Given the description of an element on the screen output the (x, y) to click on. 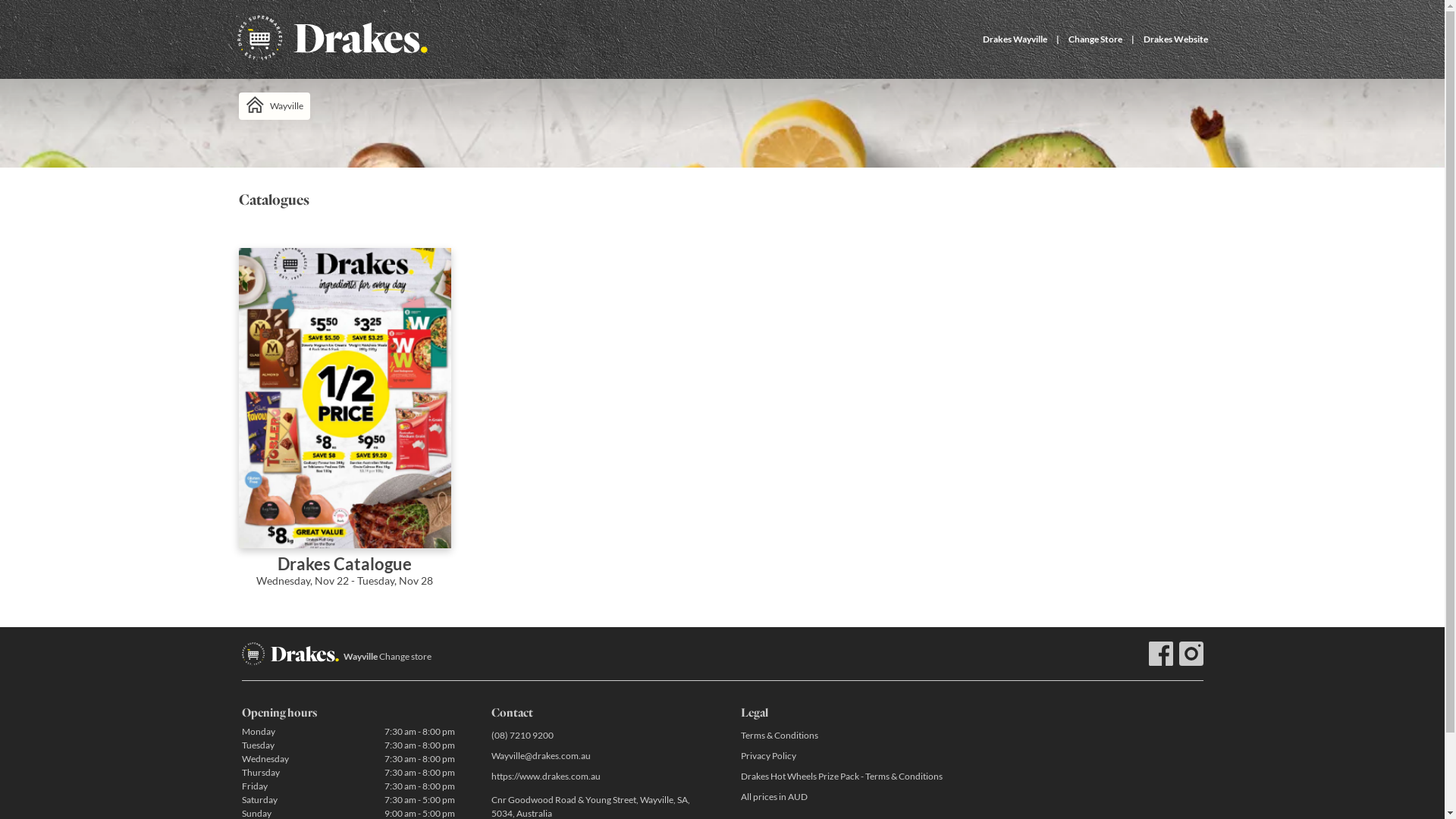
Wayville Change store Element type: text (386, 656)
Wayville Element type: text (273, 105)
Facebook Element type: hover (1160, 653)
https://www.drakes.com.au Element type: text (597, 775)
Drakes Catalogue
Wednesday, Nov 22 - Tuesday, Nov 28 Element type: text (344, 427)
(08) 7210 9200 Element type: text (597, 734)
Drakes Website Element type: text (1175, 38)
Instagram drakessupermarkets Element type: hover (1190, 653)
Drakes Hot Wheels Prize Pack - Terms & Conditions Element type: text (846, 775)
Change Store Element type: text (1094, 38)
Wayville@drakes.com.au Element type: text (597, 755)
Terms & Conditions Element type: text (846, 734)
Privacy Policy Element type: text (846, 755)
